Given the description of an element on the screen output the (x, y) to click on. 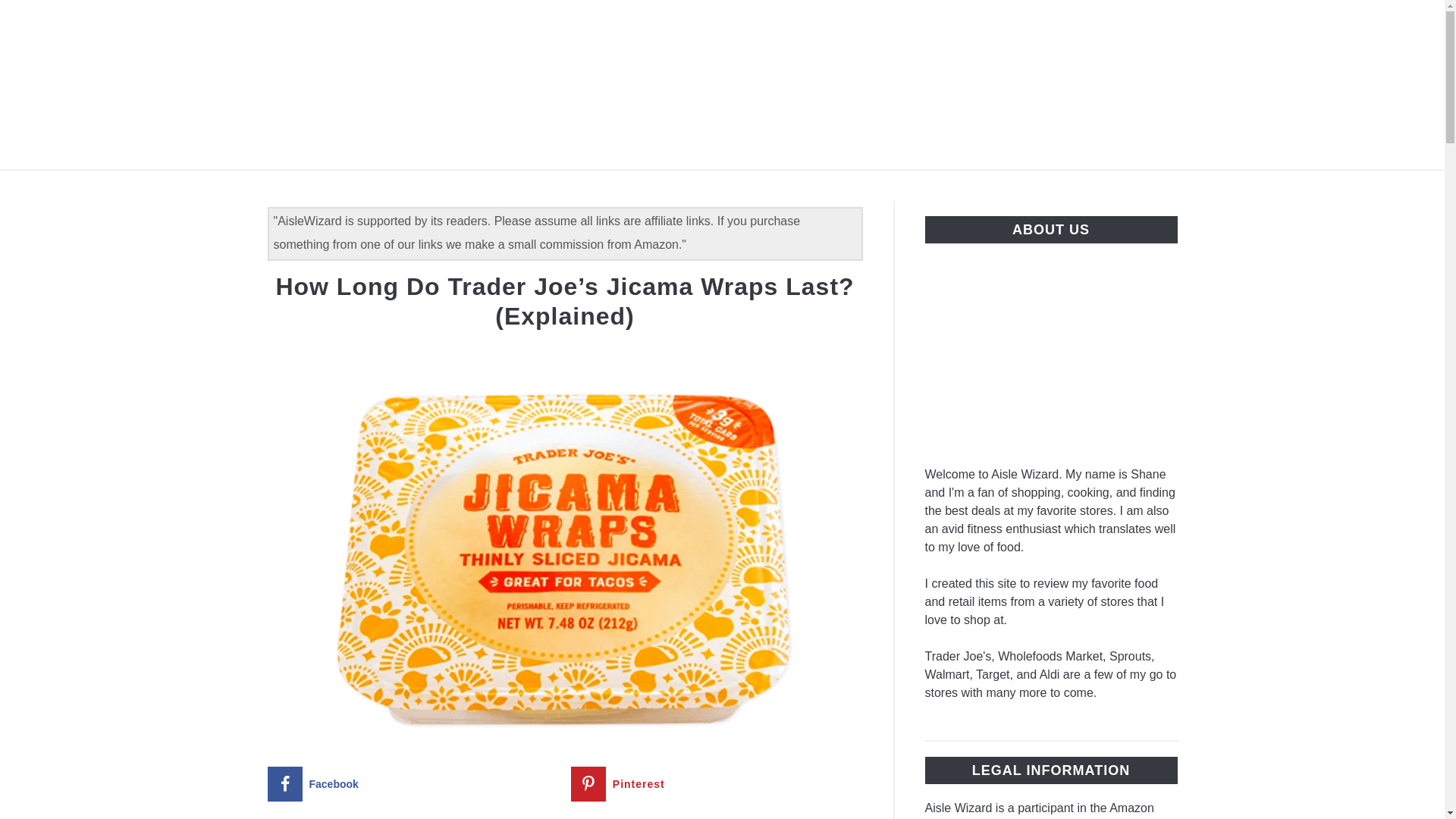
RESTAURANTS (710, 187)
Save to Pinterest (716, 783)
Facebook (412, 783)
Pinterest (716, 783)
Search (1203, 84)
Share on Facebook (412, 783)
STORES (599, 187)
